Given the description of an element on the screen output the (x, y) to click on. 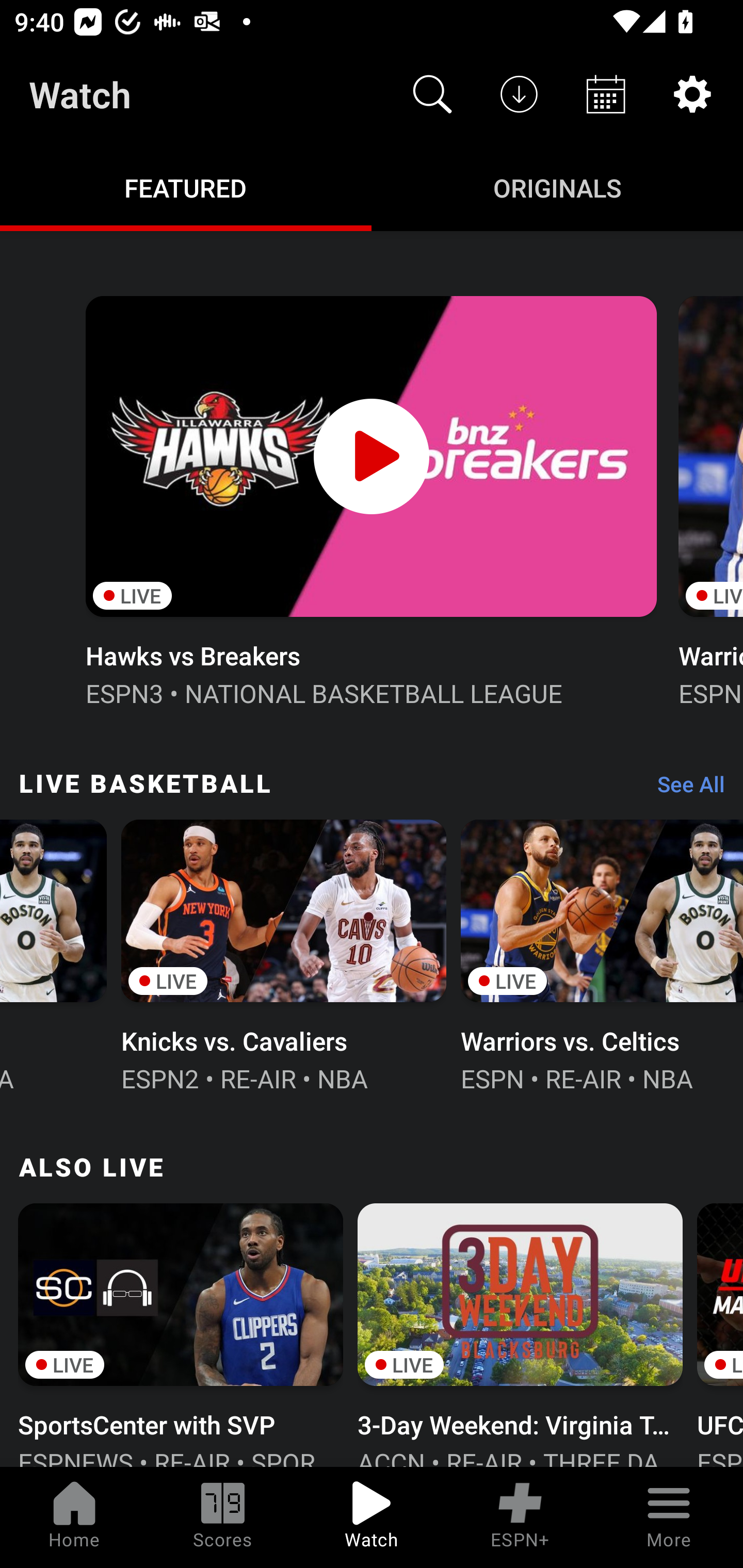
Search (432, 93)
Downloads (518, 93)
Schedule (605, 93)
Settings (692, 93)
Originals ORIGINALS (557, 187)
See All (683, 788)
LIVE Knicks vs. Cavaliers ESPN2 • RE-AIR • NBA (283, 954)
LIVE Warriors vs. Celtics ESPN • RE-AIR • NBA (601, 954)
Home (74, 1517)
Scores (222, 1517)
ESPN+ (519, 1517)
More (668, 1517)
